Given the description of an element on the screen output the (x, y) to click on. 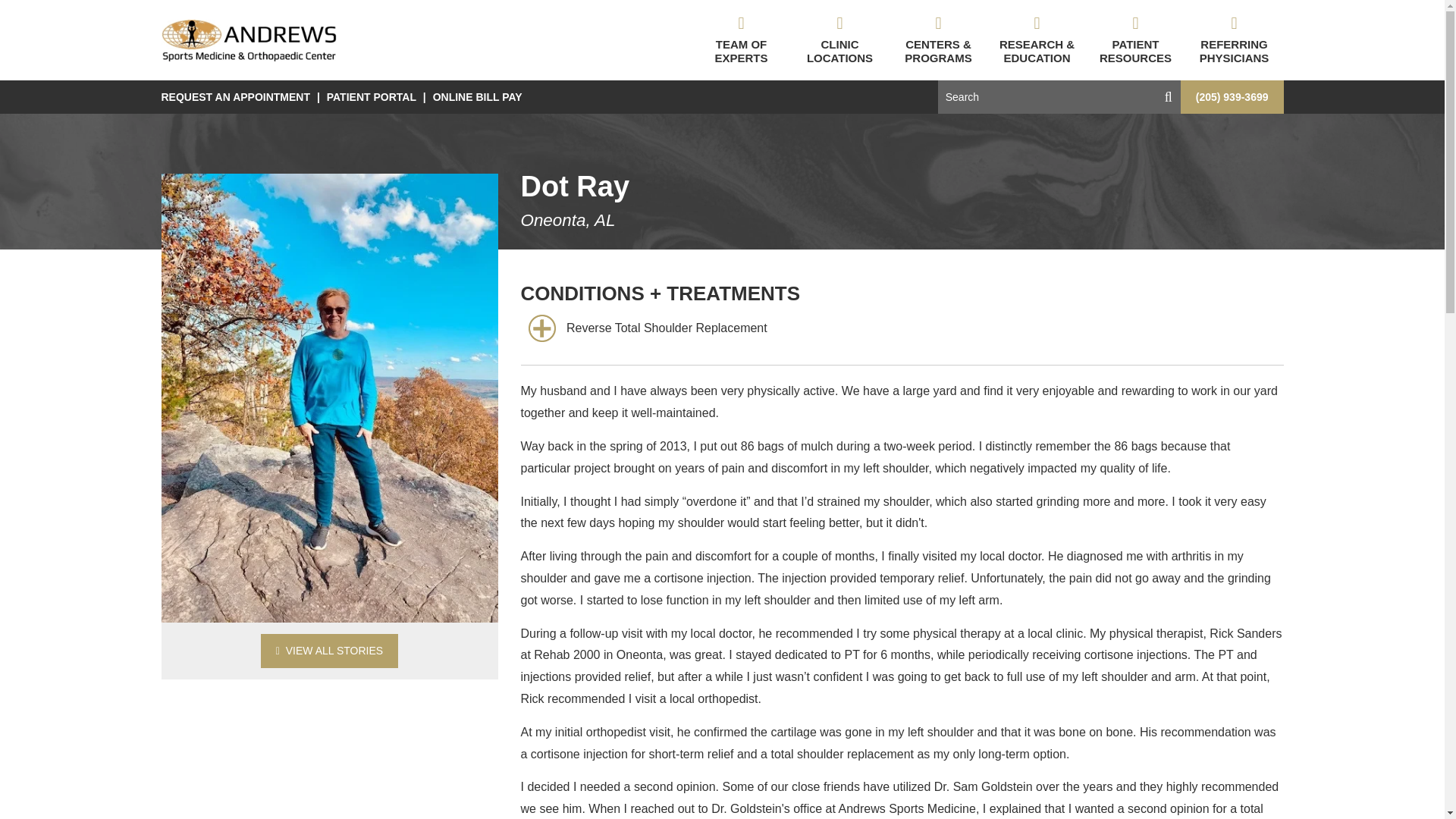
CLINIC LOCATIONS (839, 39)
ONLINE BILL PAY (477, 96)
TEAM OF EXPERTS (740, 39)
  VIEW ALL STORIES (328, 650)
PATIENT PORTAL (371, 96)
REQUEST AN APPOINTMENT (237, 96)
REFERRING PHYSICIANS (1233, 39)
PATIENT RESOURCES (1135, 39)
